Given the description of an element on the screen output the (x, y) to click on. 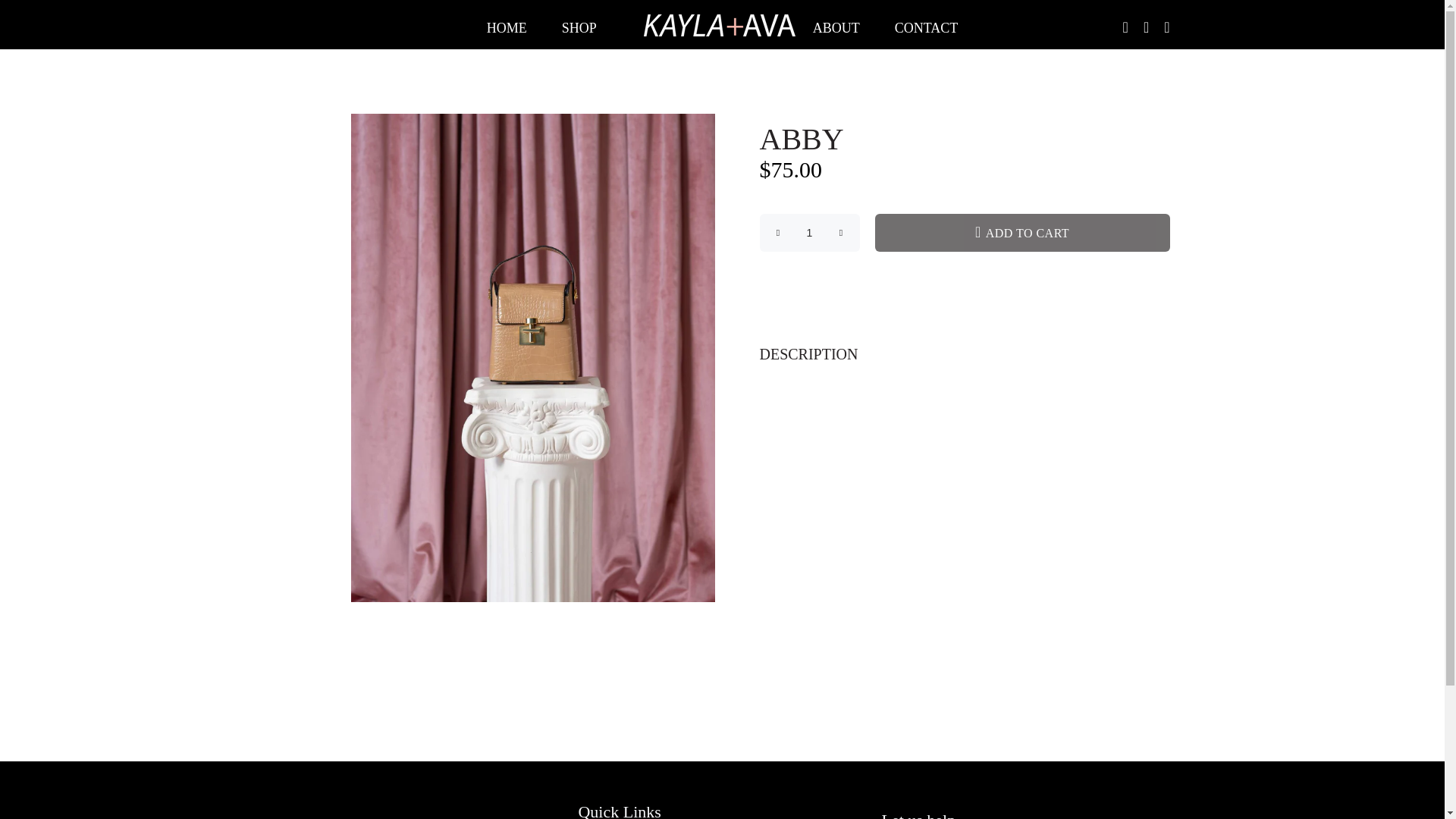
1 (810, 232)
SHOP (579, 28)
ABOUT (836, 28)
CONTACT (923, 28)
HOME (504, 28)
